Given the description of an element on the screen output the (x, y) to click on. 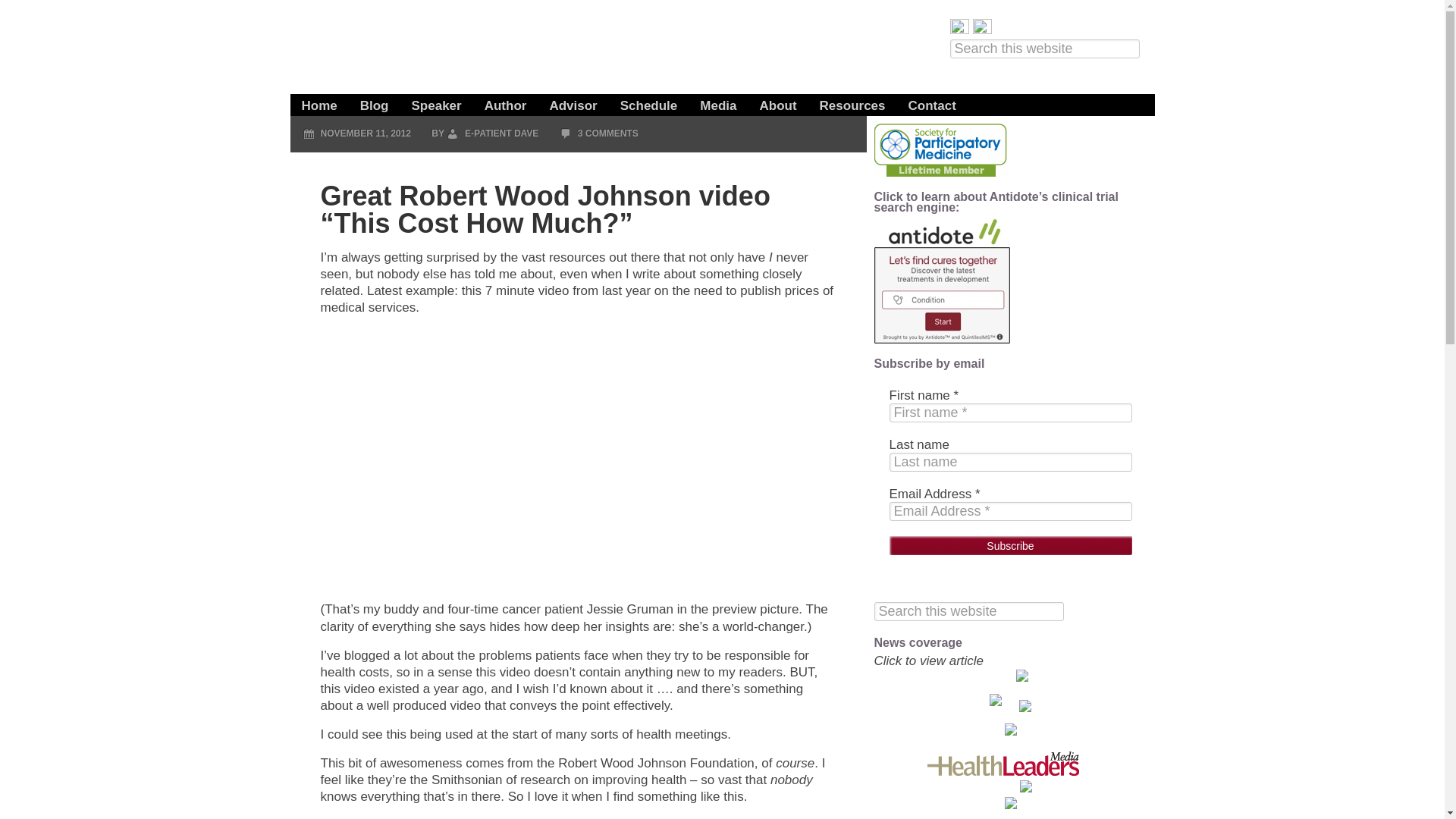
Subscribe (1009, 545)
Home (318, 98)
e-Patient Dave (501, 49)
About (778, 98)
First name (1009, 412)
Last name (1009, 461)
Author (505, 98)
Blog (374, 98)
3 COMMENTS (608, 132)
Schedule (648, 98)
Media (718, 98)
Contact (932, 98)
